Given the description of an element on the screen output the (x, y) to click on. 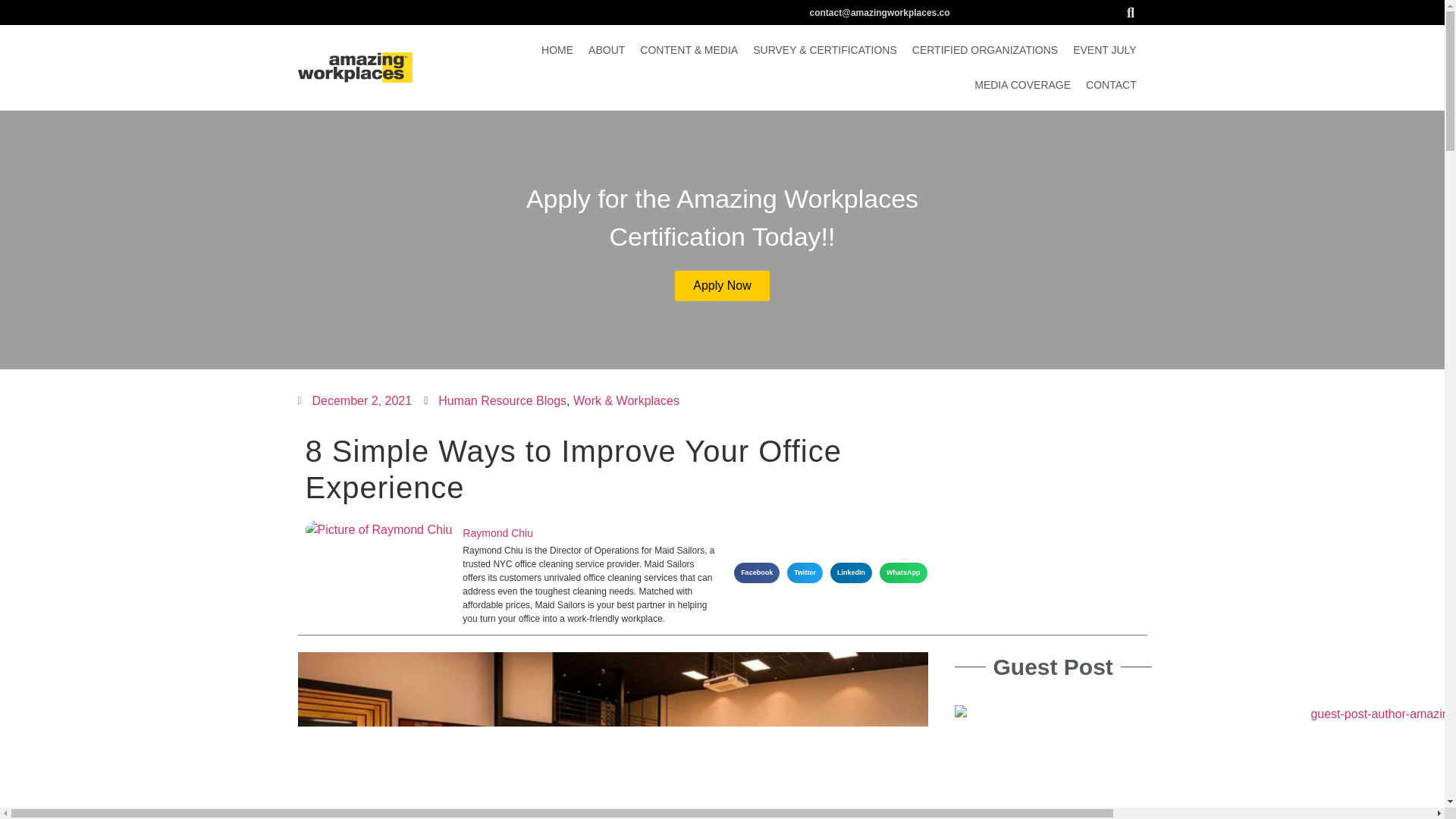
EVENT JULY (1104, 49)
HOME (557, 49)
December 2, 2021 (354, 401)
Apply Now (721, 285)
CONTACT (1111, 84)
ABOUT (605, 49)
Raymond Chiu (588, 533)
Human Resource Blogs (502, 400)
MEDIA COVERAGE (1022, 84)
CERTIFIED ORGANIZATIONS (984, 49)
